Given the description of an element on the screen output the (x, y) to click on. 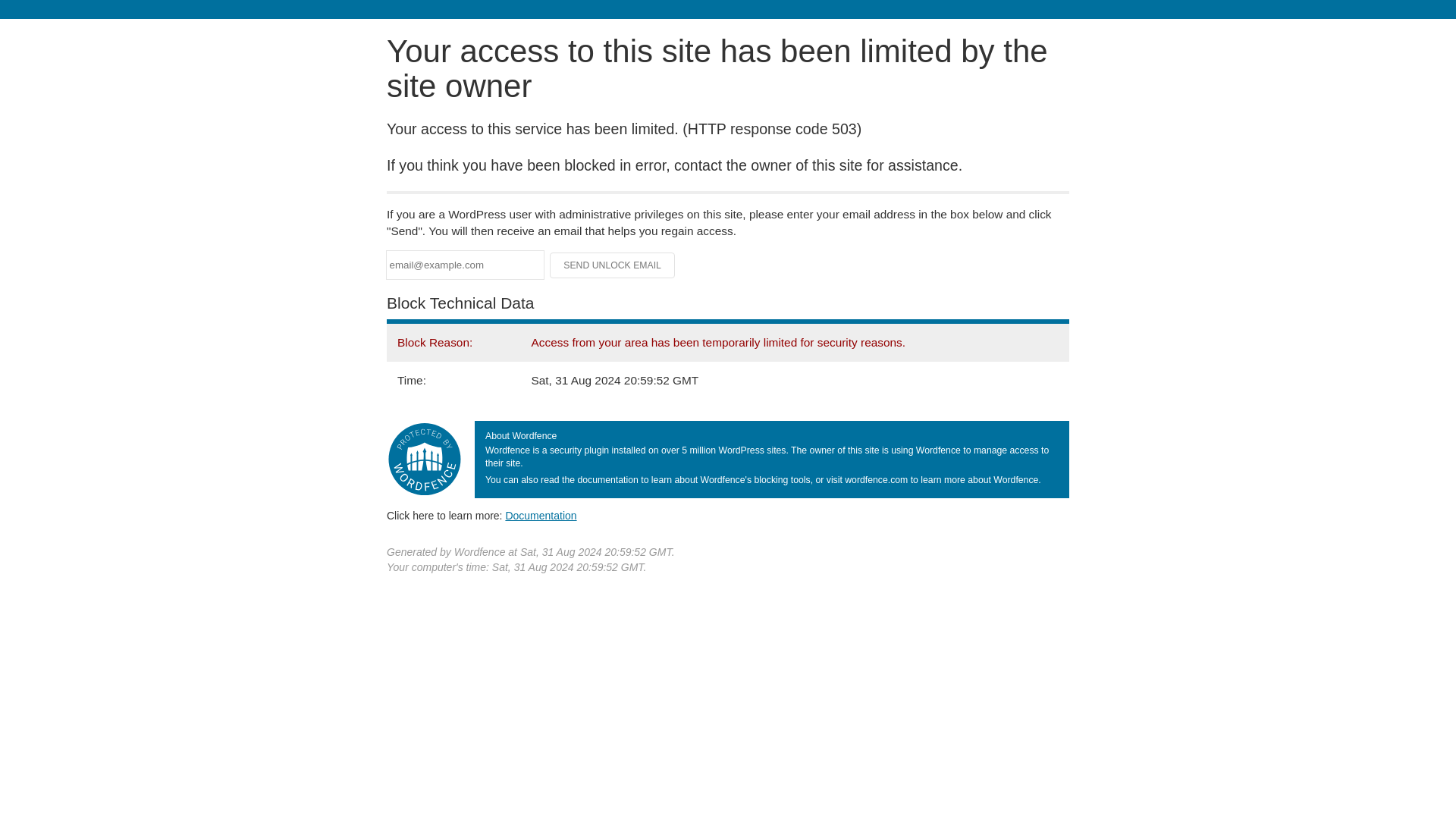
Send Unlock Email (612, 265)
Documentation (540, 515)
Send Unlock Email (612, 265)
